Given the description of an element on the screen output the (x, y) to click on. 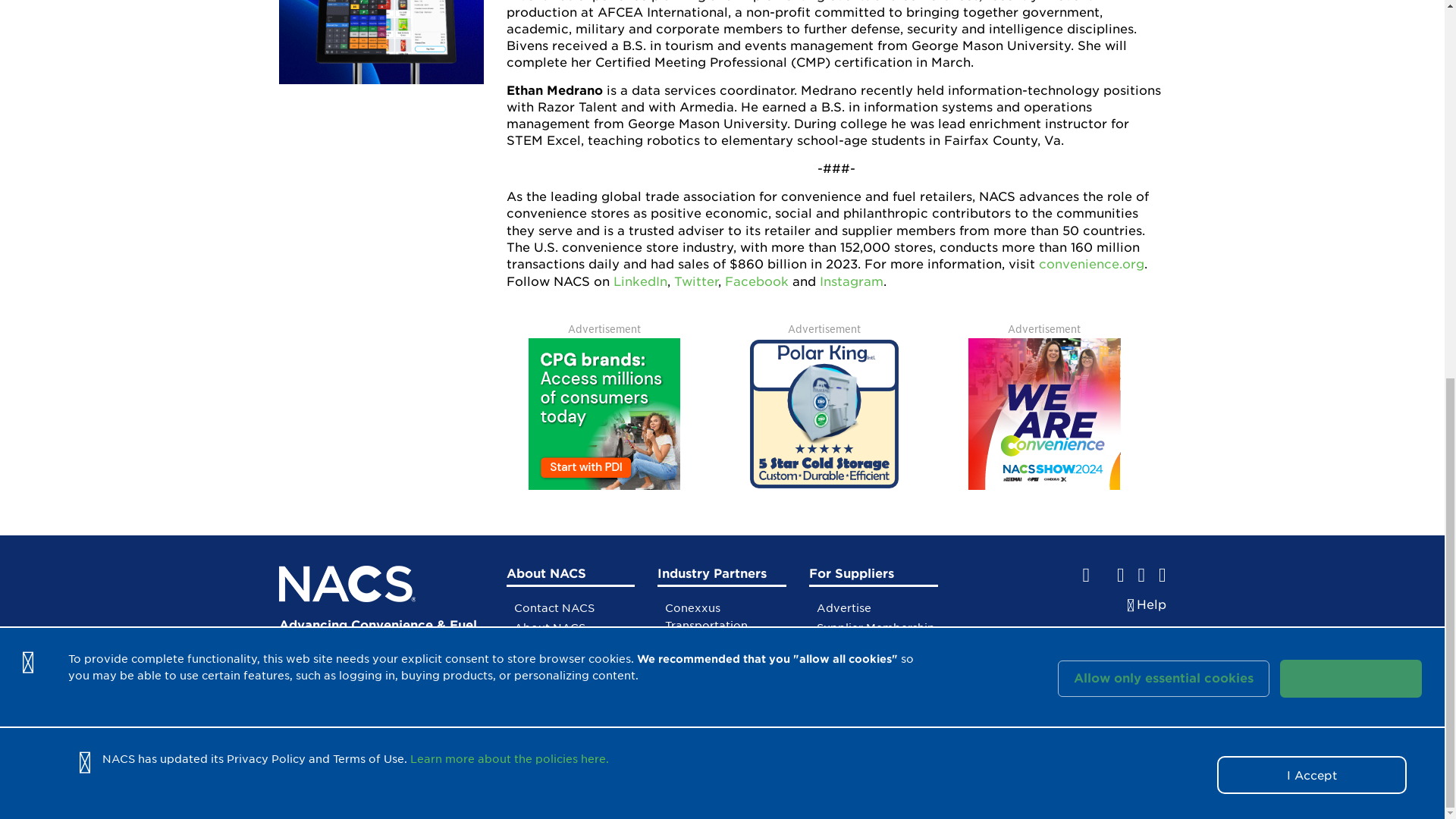
Go to top (1126, 650)
PDI Ad (603, 413)
Verifone Ad (381, 42)
Polar King Ad (823, 413)
NACS Show 2024 Ad (1044, 413)
I Accept (1311, 75)
